Given the description of an element on the screen output the (x, y) to click on. 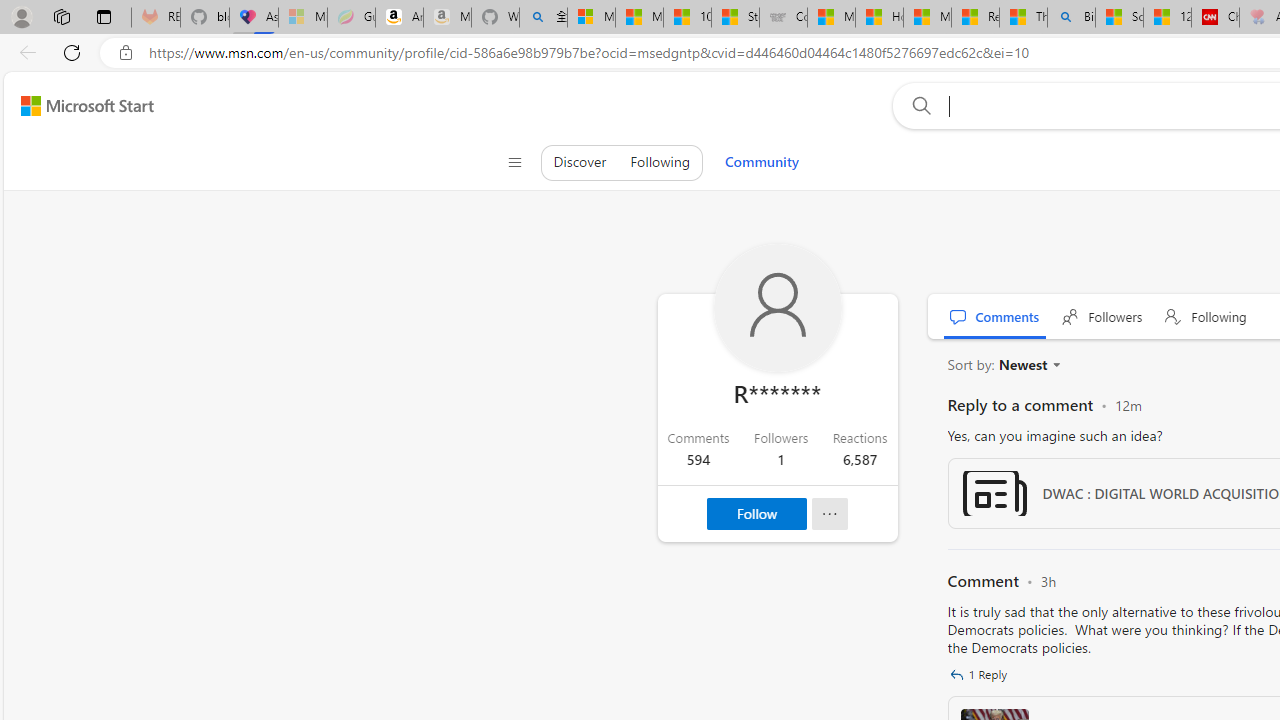
Report profile (829, 513)
 Followers (1102, 316)
